Given the description of an element on the screen output the (x, y) to click on. 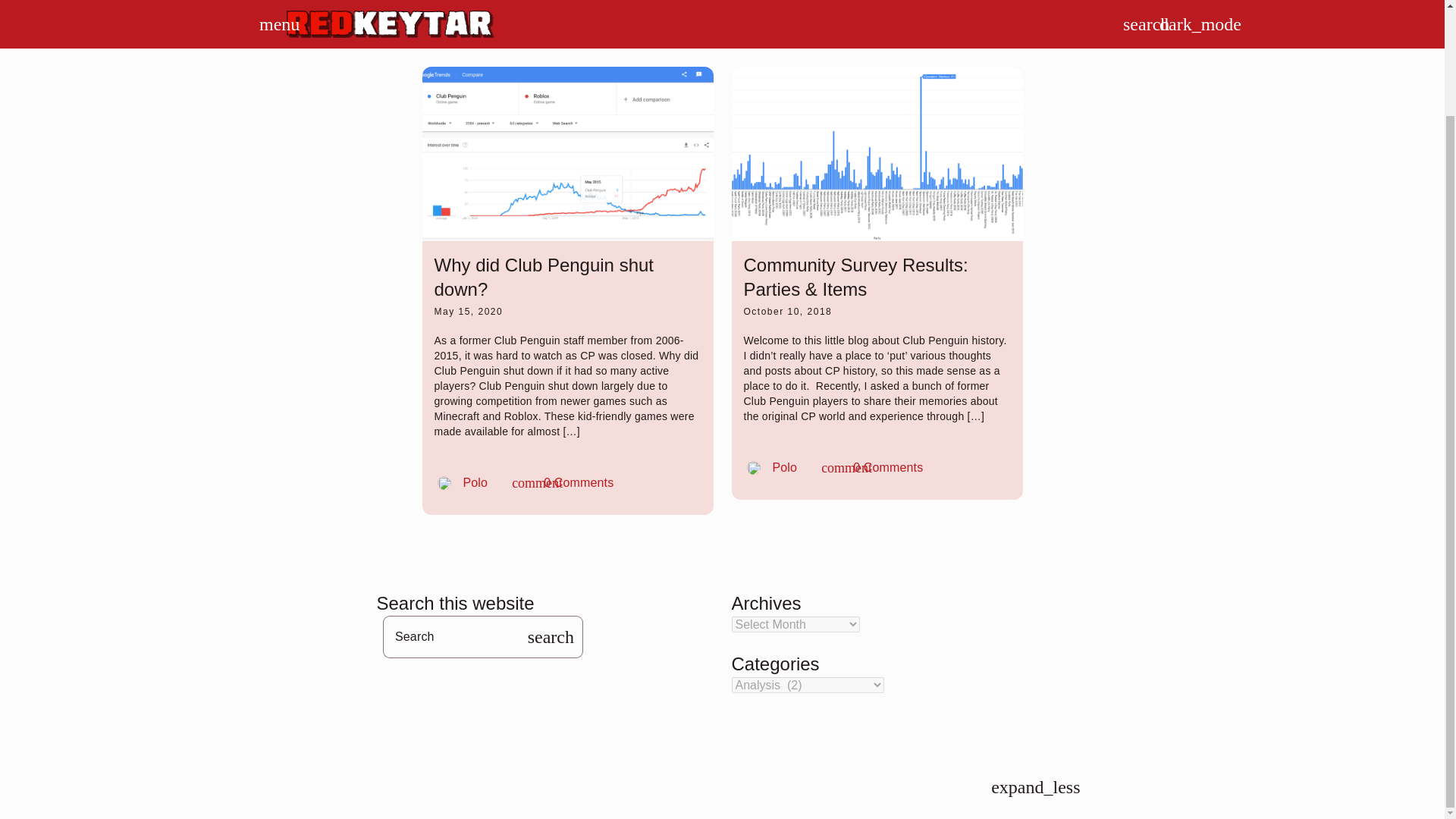
Polo (462, 482)
Polo (871, 467)
